Given the description of an element on the screen output the (x, y) to click on. 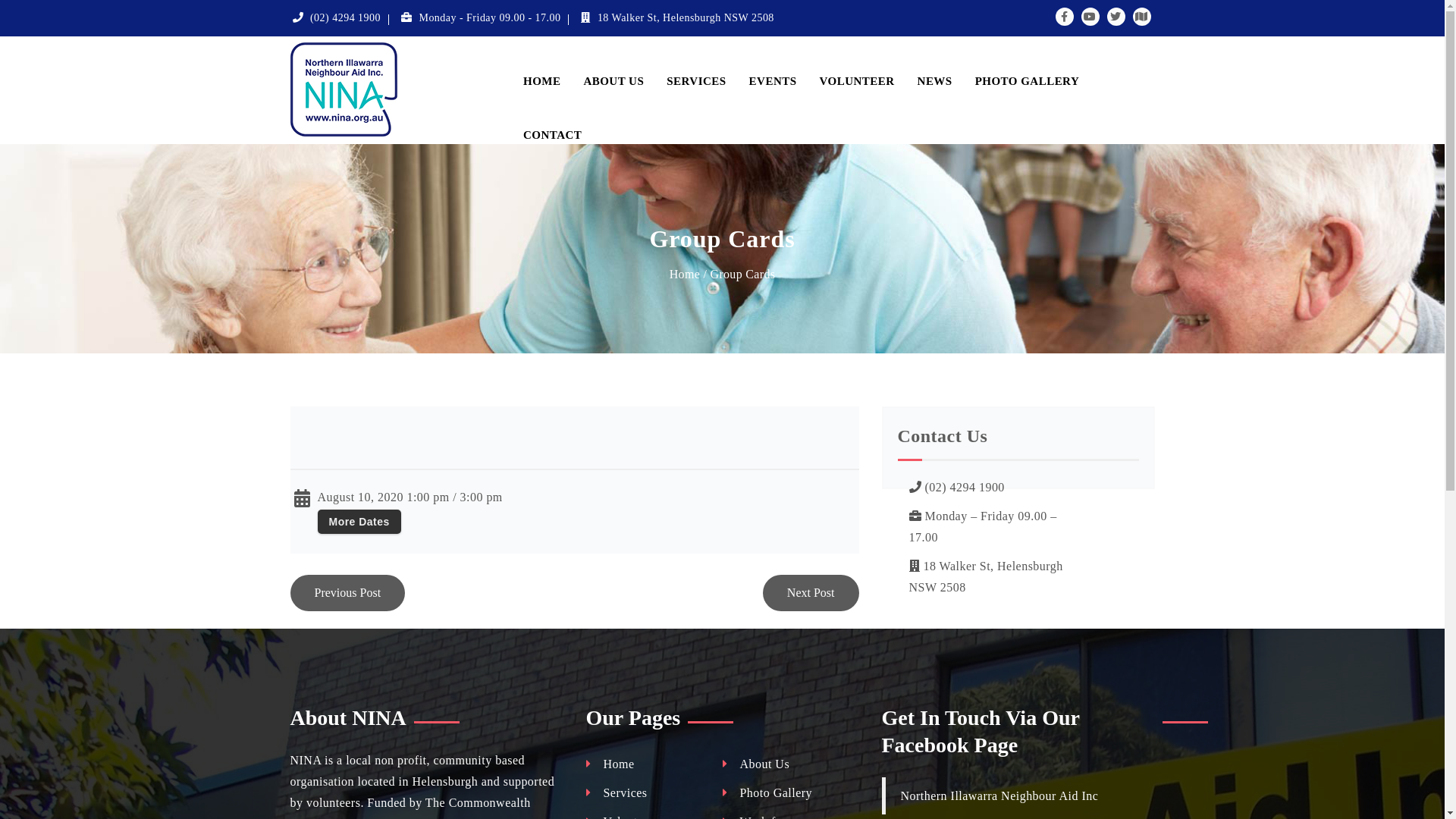
SERVICES Element type: text (696, 63)
ABOUT US Element type: text (613, 63)
Services Element type: text (615, 792)
PHOTO GALLERY Element type: text (1027, 63)
Previous Post Element type: text (346, 592)
About Us Element type: text (755, 763)
CONTACT Element type: text (552, 117)
Home Element type: text (684, 273)
Northern Illawarra Neighbour Aid Inc Element type: text (999, 795)
NINA Element type: hover (389, 89)
NEWS Element type: text (934, 63)
Photo Gallery Element type: text (766, 792)
Home Element type: text (609, 763)
EVENTS Element type: text (772, 63)
Next Post Element type: text (810, 592)
HOME Element type: text (541, 63)
VOLUNTEER Element type: text (857, 63)
